Given the description of an element on the screen output the (x, y) to click on. 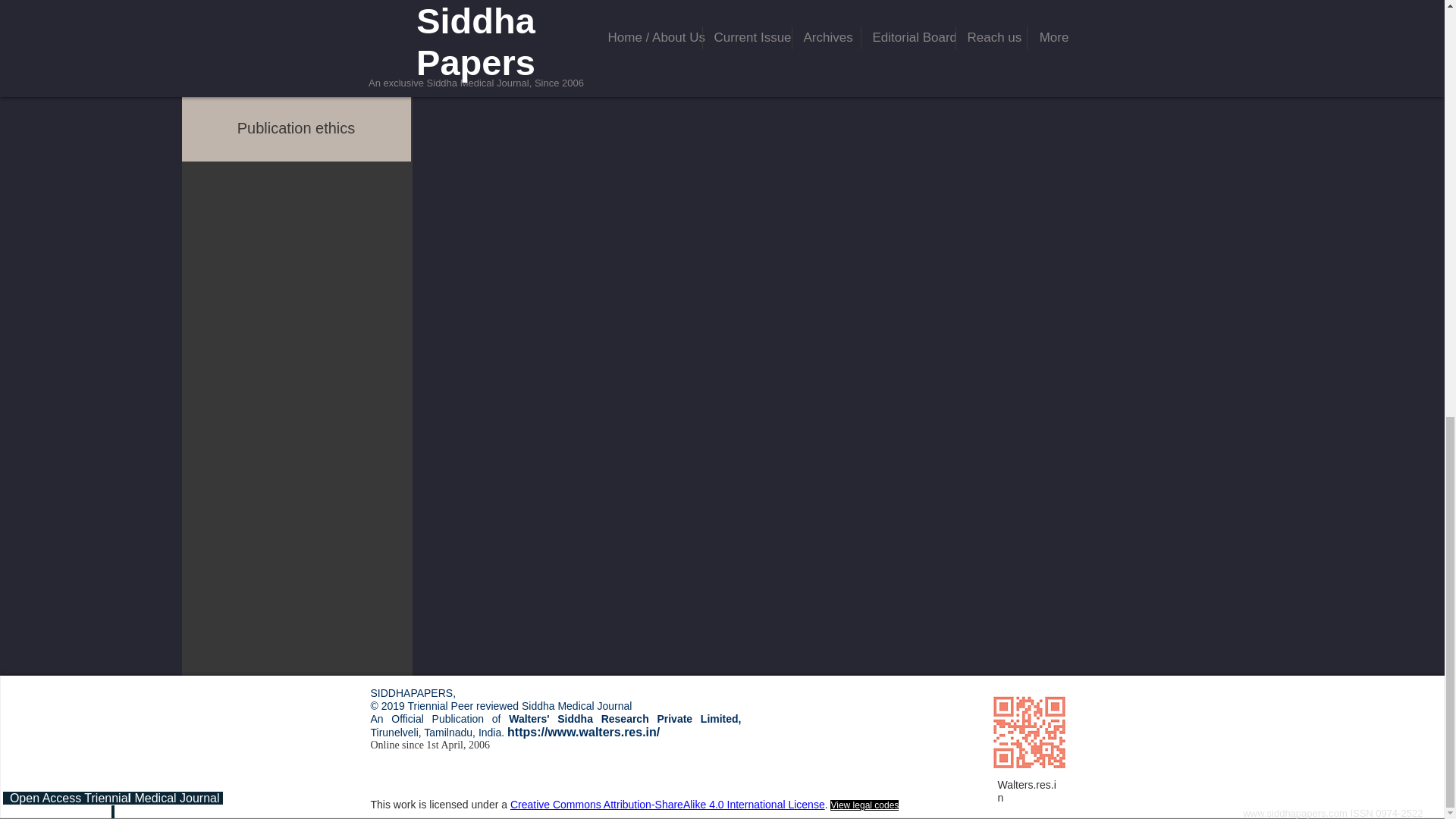
View legal codes (863, 805)
Publication ethics (296, 128)
Plagiarism Policy (296, 13)
copyright form (296, 60)
